Given the description of an element on the screen output the (x, y) to click on. 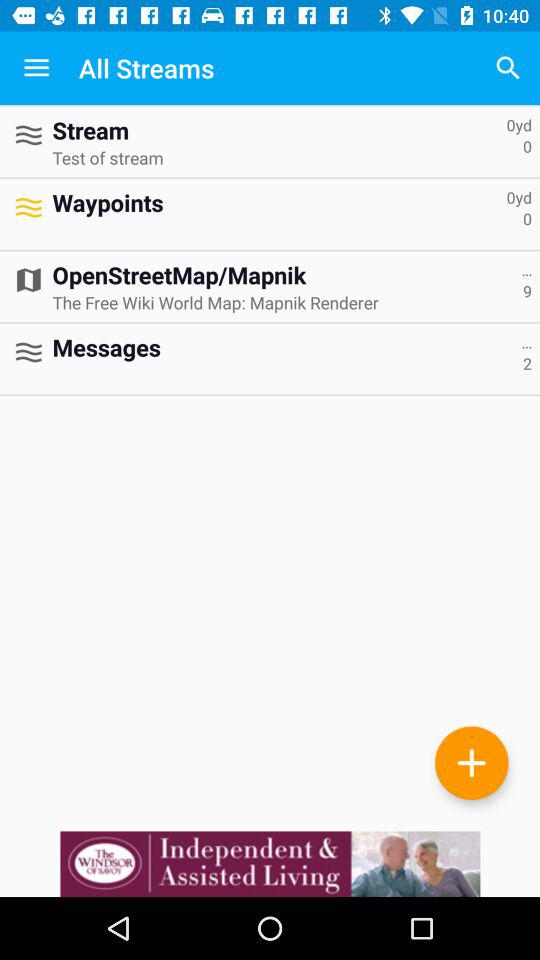
click advertisement (270, 864)
